Given the description of an element on the screen output the (x, y) to click on. 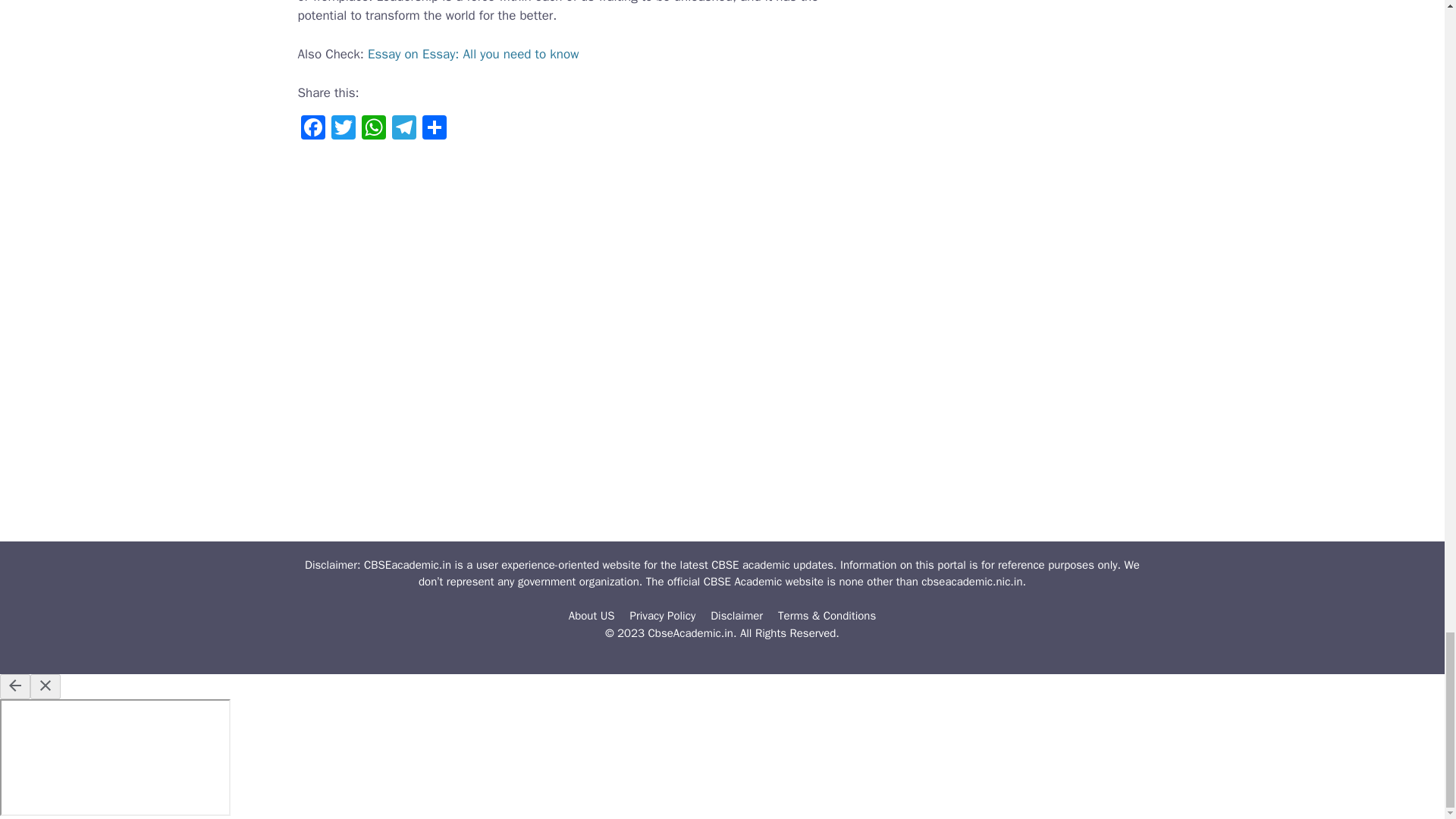
Telegram (403, 129)
Twitter (342, 129)
Facebook (312, 129)
About US (591, 615)
Disclaimer (736, 615)
Twitter (342, 129)
Privacy Policy (662, 615)
Telegram (403, 129)
Essay on Essay: All you need to know (473, 53)
WhatsApp (373, 129)
